Given the description of an element on the screen output the (x, y) to click on. 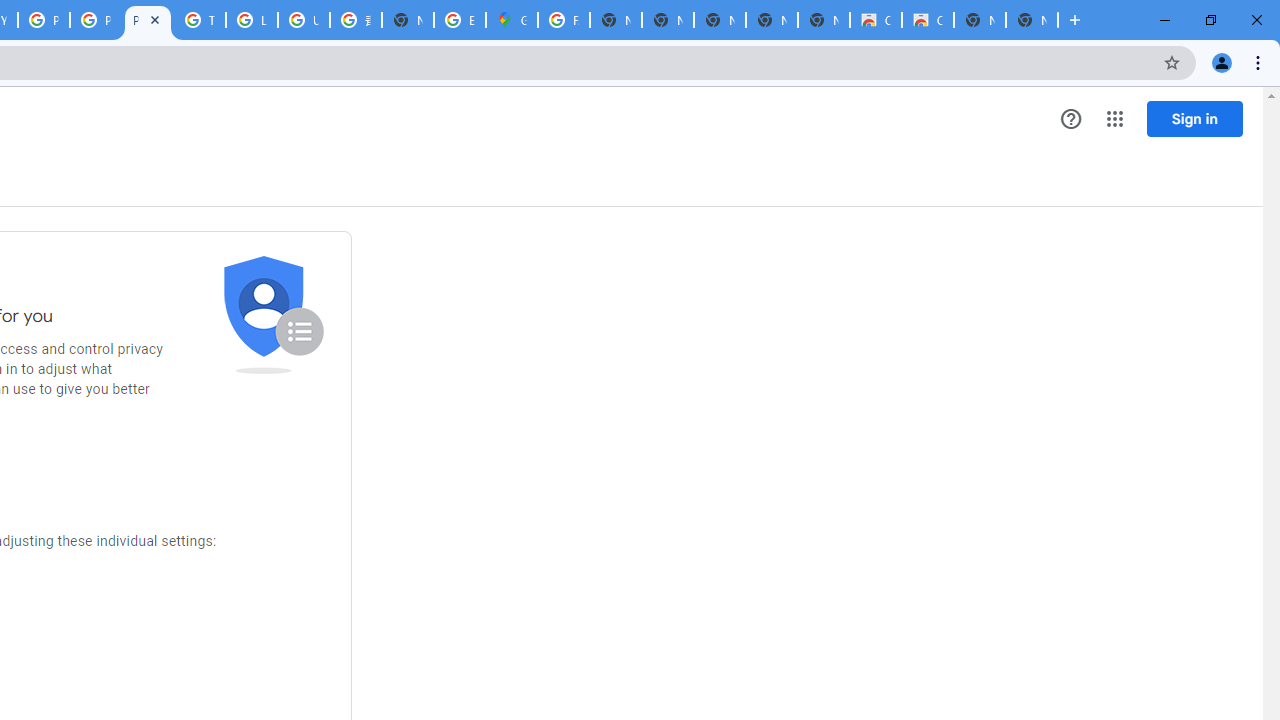
New Tab (1032, 20)
Classic Blue - Chrome Web Store (927, 20)
Privacy Checkup (95, 20)
Classic Blue - Chrome Web Store (875, 20)
